Given the description of an element on the screen output the (x, y) to click on. 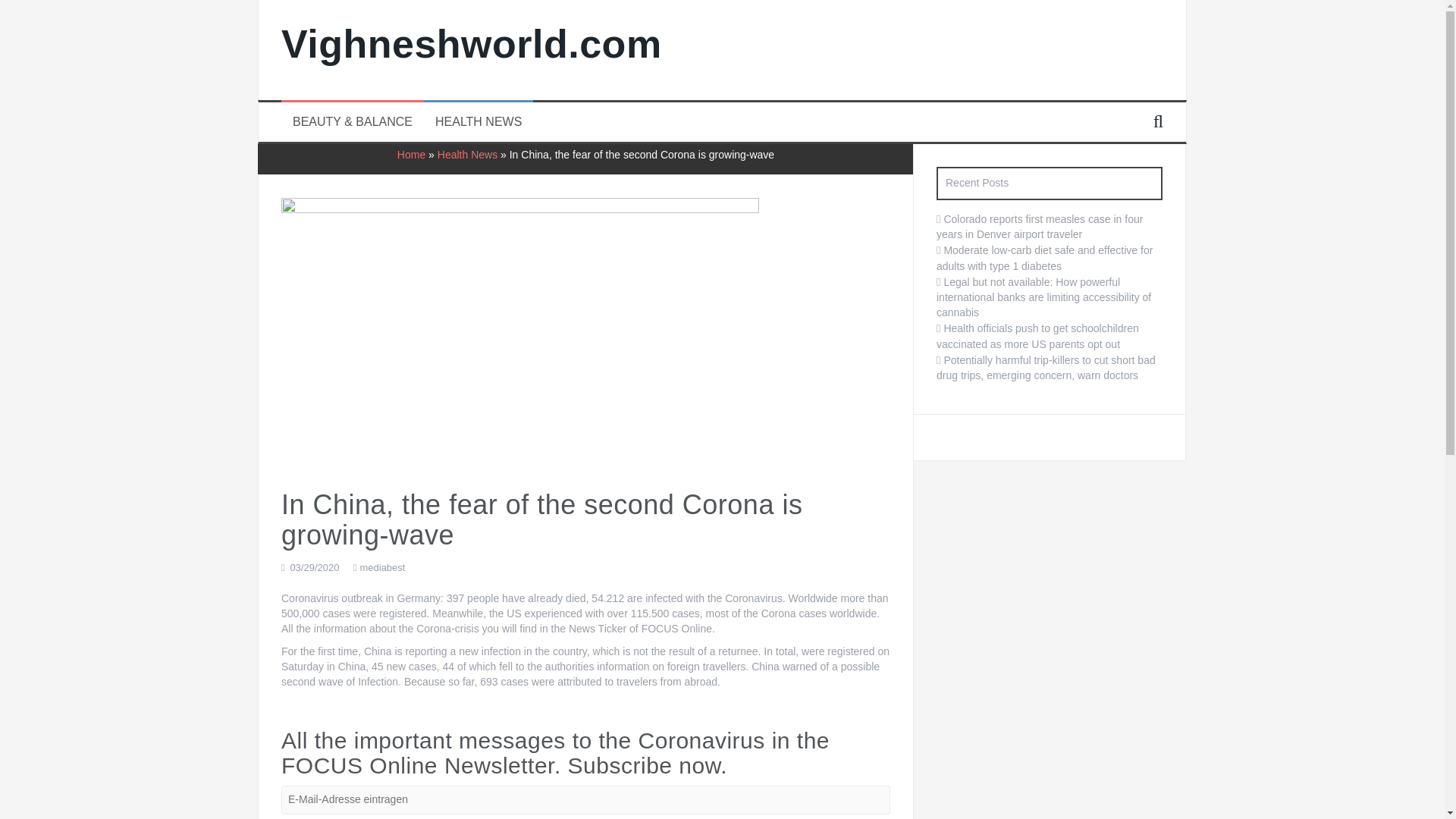
mediabest (381, 567)
Home (411, 154)
Health News (467, 154)
Vighneshworld.com (471, 44)
HEALTH NEWS (478, 122)
